Given the description of an element on the screen output the (x, y) to click on. 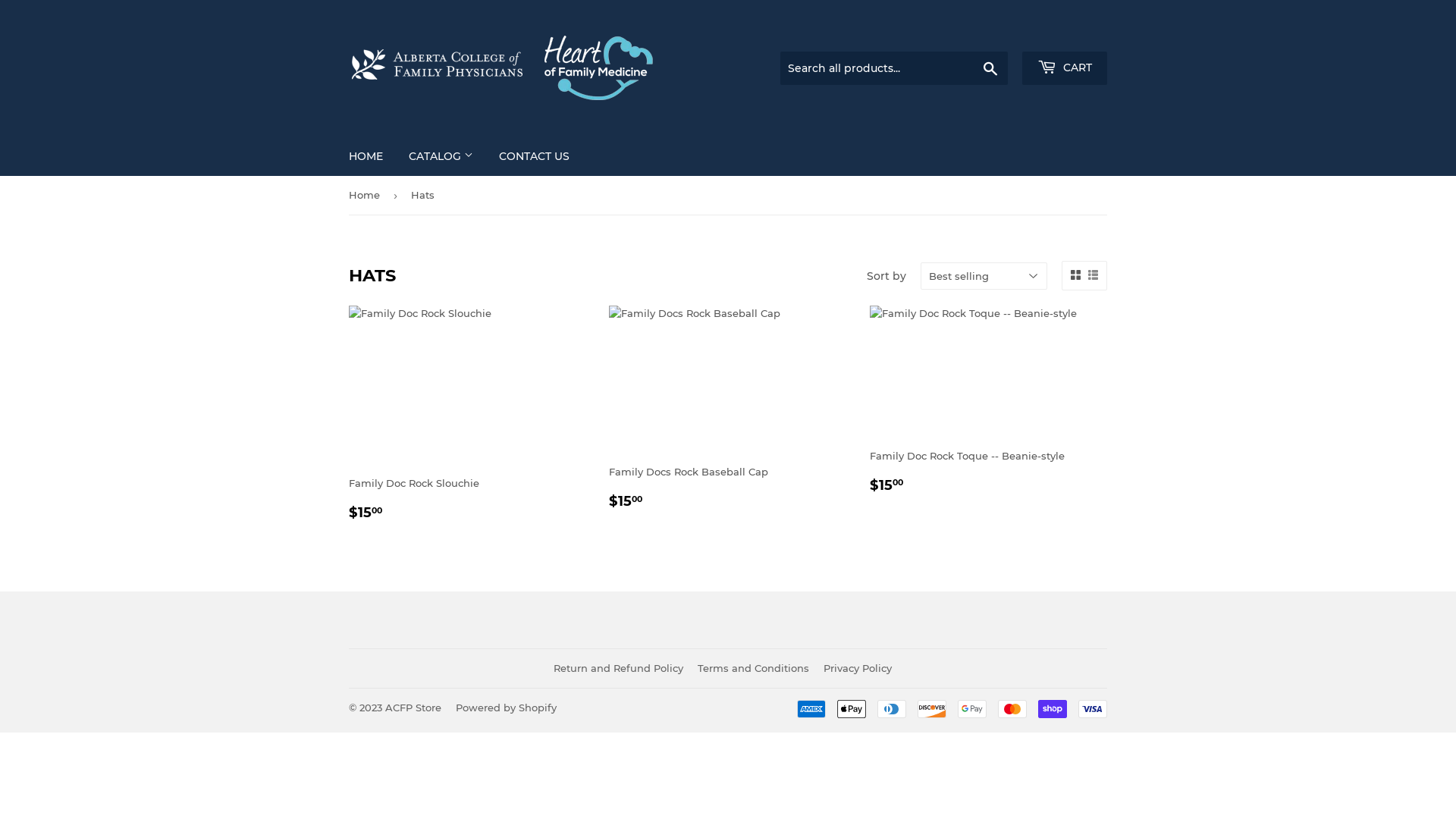
ACFP Store Element type: text (413, 707)
Search Element type: text (990, 68)
Home Element type: text (366, 194)
Privacy Policy Element type: text (857, 668)
Grid view Element type: hover (1075, 274)
CART Element type: text (1064, 67)
Family Doc Rock Slouchie
REGULAR PRICE
$1500
$15.00 Element type: text (467, 414)
Family Docs Rock Baseball Cap
REGULAR PRICE
$1500
$15.00 Element type: text (727, 408)
Terms and Conditions Element type: text (753, 668)
HOME Element type: text (365, 155)
CATALOG Element type: text (440, 155)
Return and Refund Policy Element type: text (618, 668)
Powered by Shopify Element type: text (505, 707)
CONTACT US Element type: text (533, 155)
List view Element type: hover (1093, 274)
